Given the description of an element on the screen output the (x, y) to click on. 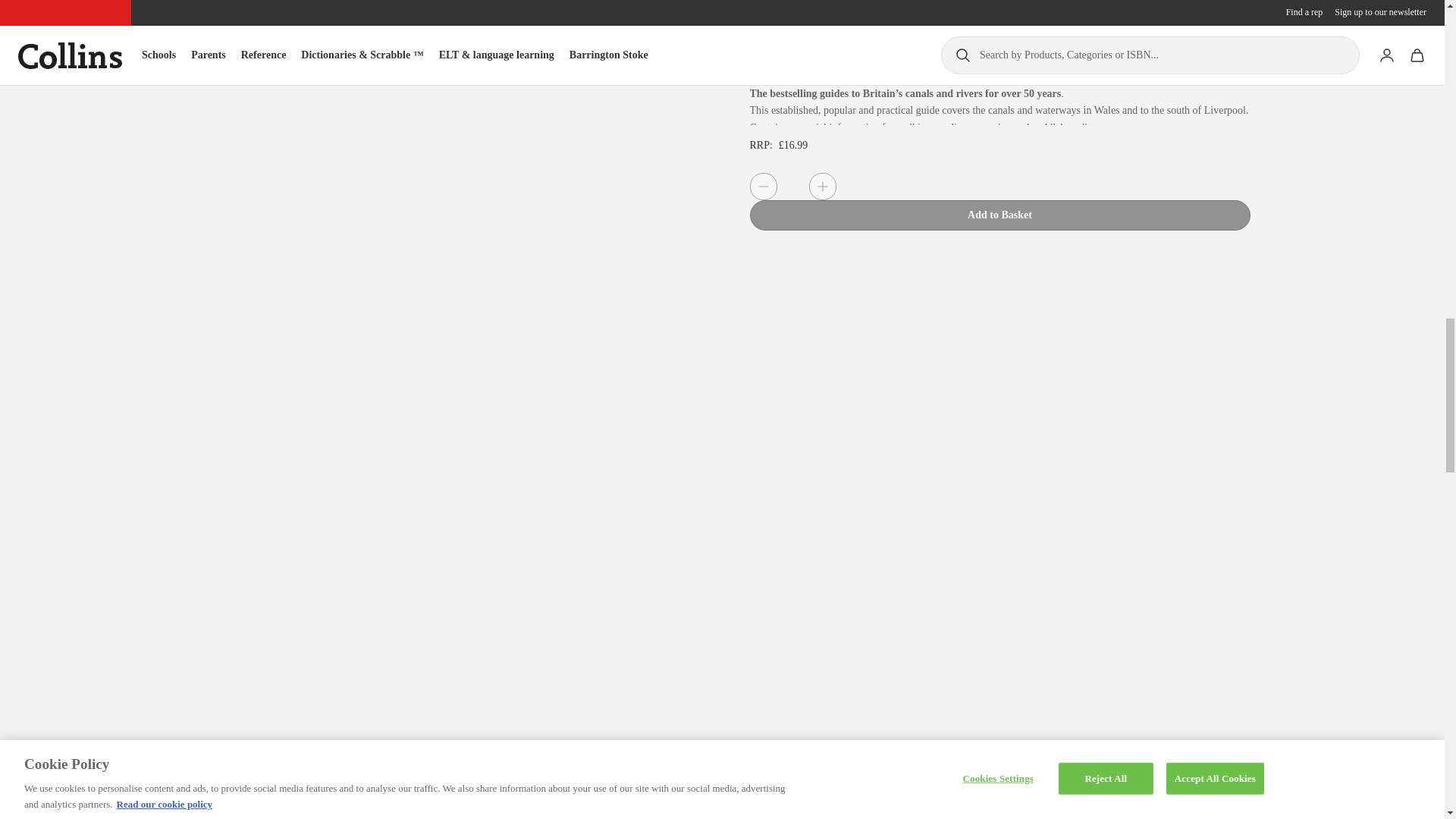
Add to Basket (999, 214)
Increase quantity (821, 185)
Decrease quantity (762, 185)
